Given the description of an element on the screen output the (x, y) to click on. 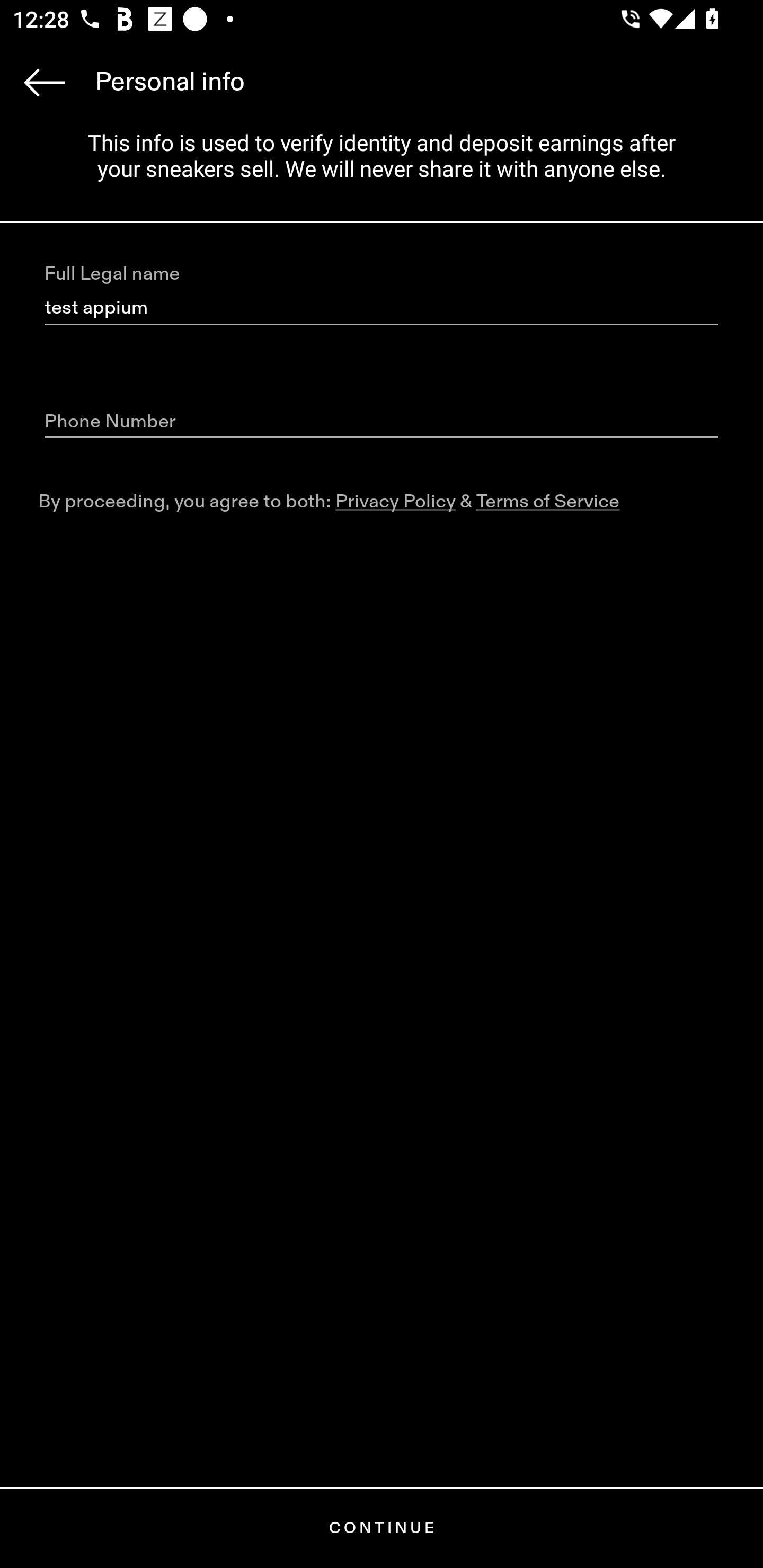
Navigate up (44, 82)
test appium (381, 308)
Phone Number (381, 422)
CONTINUE (381, 1528)
